Given the description of an element on the screen output the (x, y) to click on. 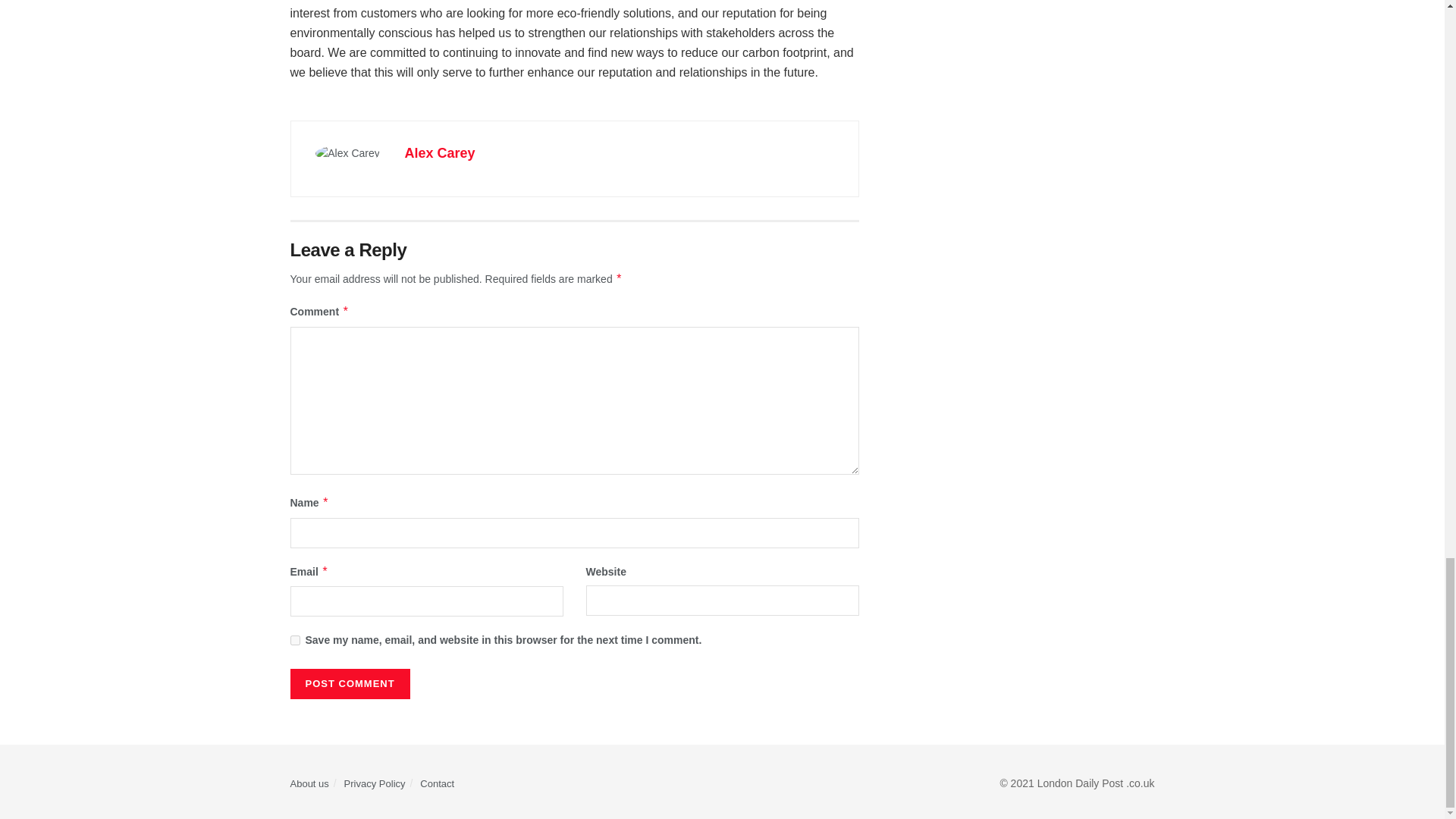
yes (294, 640)
Post Comment (349, 684)
